Given the description of an element on the screen output the (x, y) to click on. 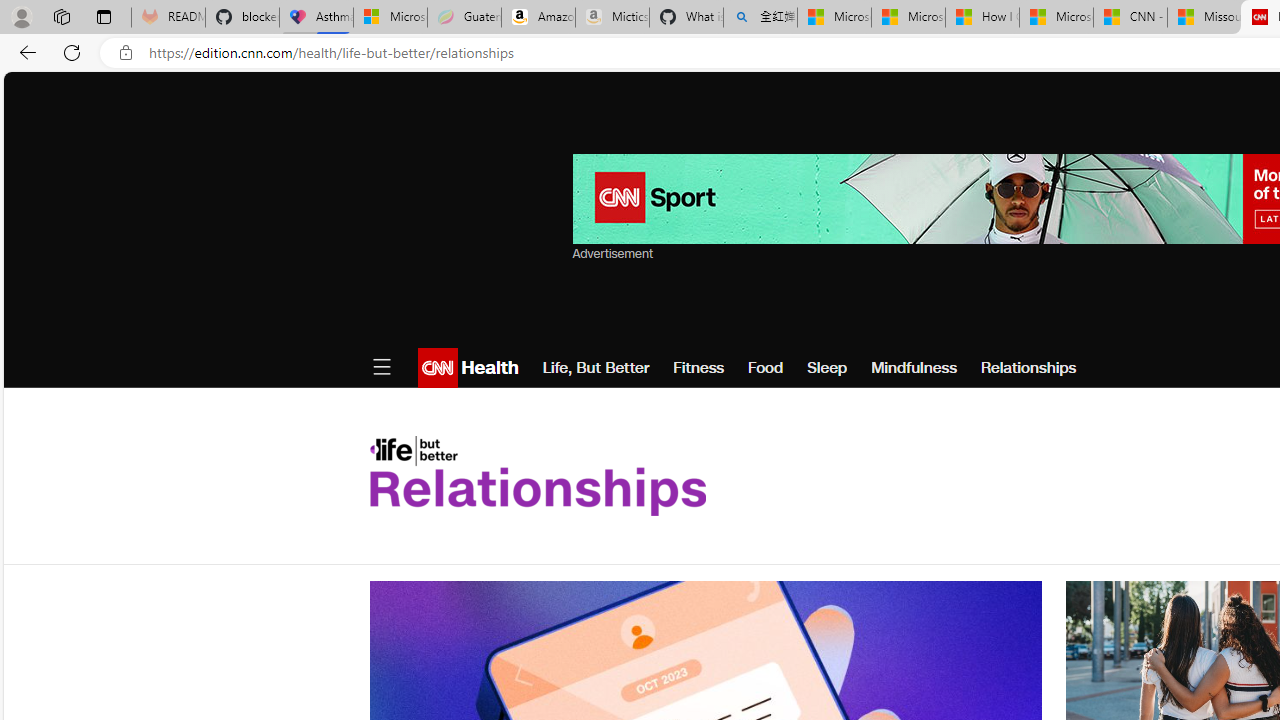
CNN logo (437, 367)
Life, But Better - Relationships (537, 476)
Fitness (698, 367)
Food (765, 367)
Sleep (826, 367)
How I Got Rid of Microsoft Edge's Unnecessary Features (981, 17)
